Given the description of an element on the screen output the (x, y) to click on. 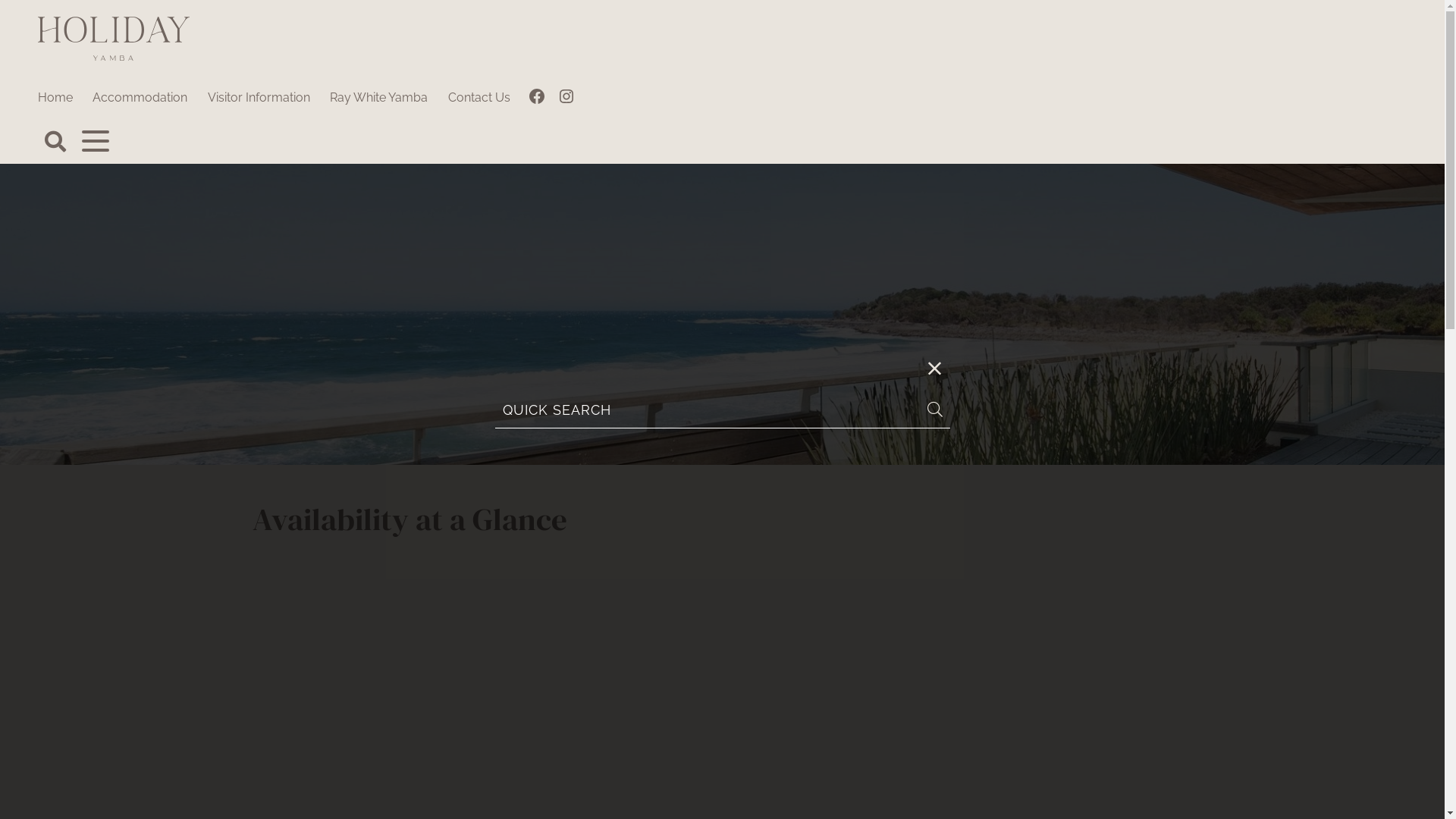
Visitor Information Element type: text (258, 98)
Instagram Element type: text (566, 98)
Home Element type: text (55, 98)
Contact Us Element type: text (478, 98)
Accommodation Element type: text (139, 98)
Facebook Element type: text (536, 98)
Ray White Yamba Element type: text (378, 98)
